Given the description of an element on the screen output the (x, y) to click on. 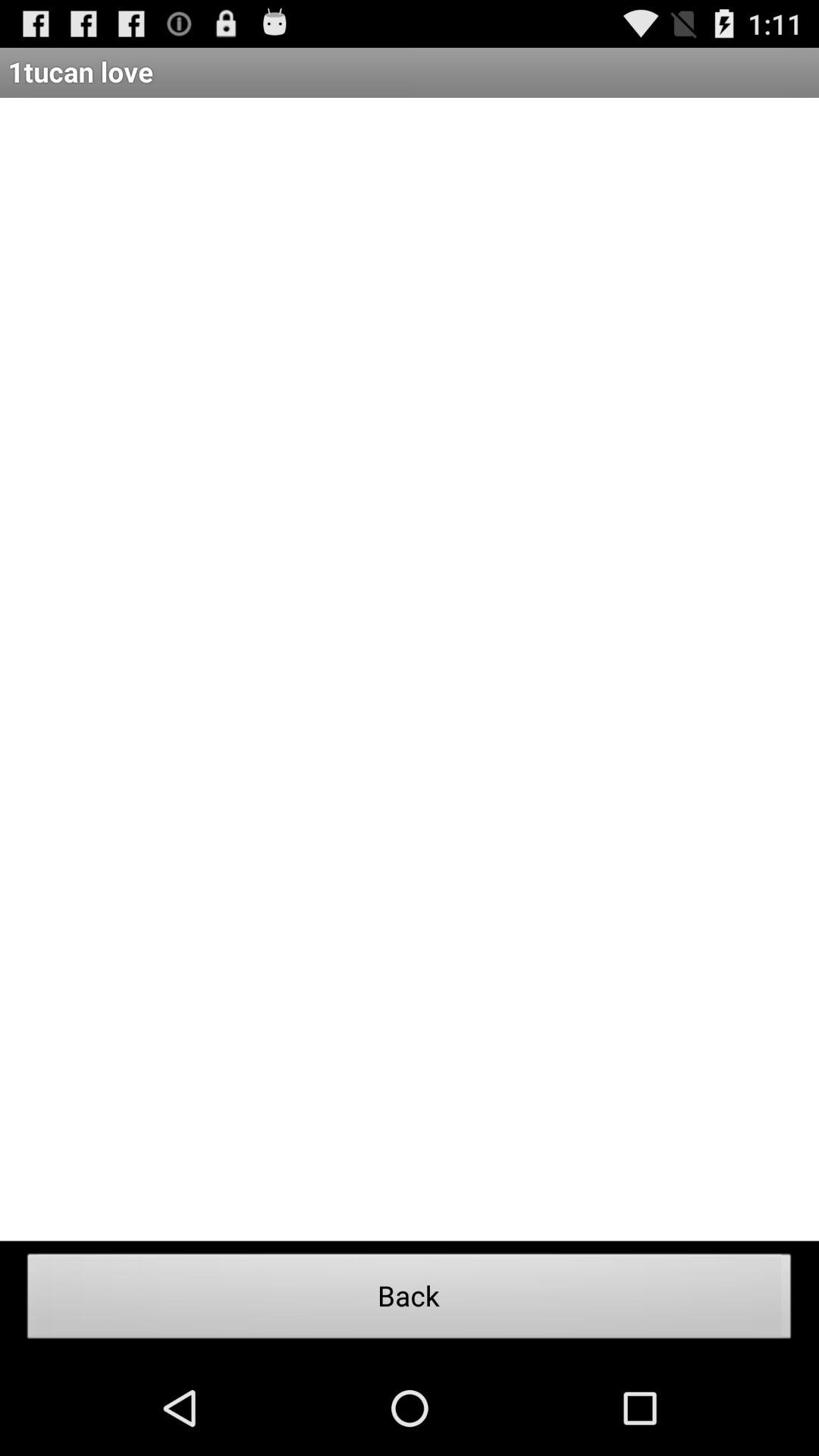
choose the item above the back item (409, 669)
